Given the description of an element on the screen output the (x, y) to click on. 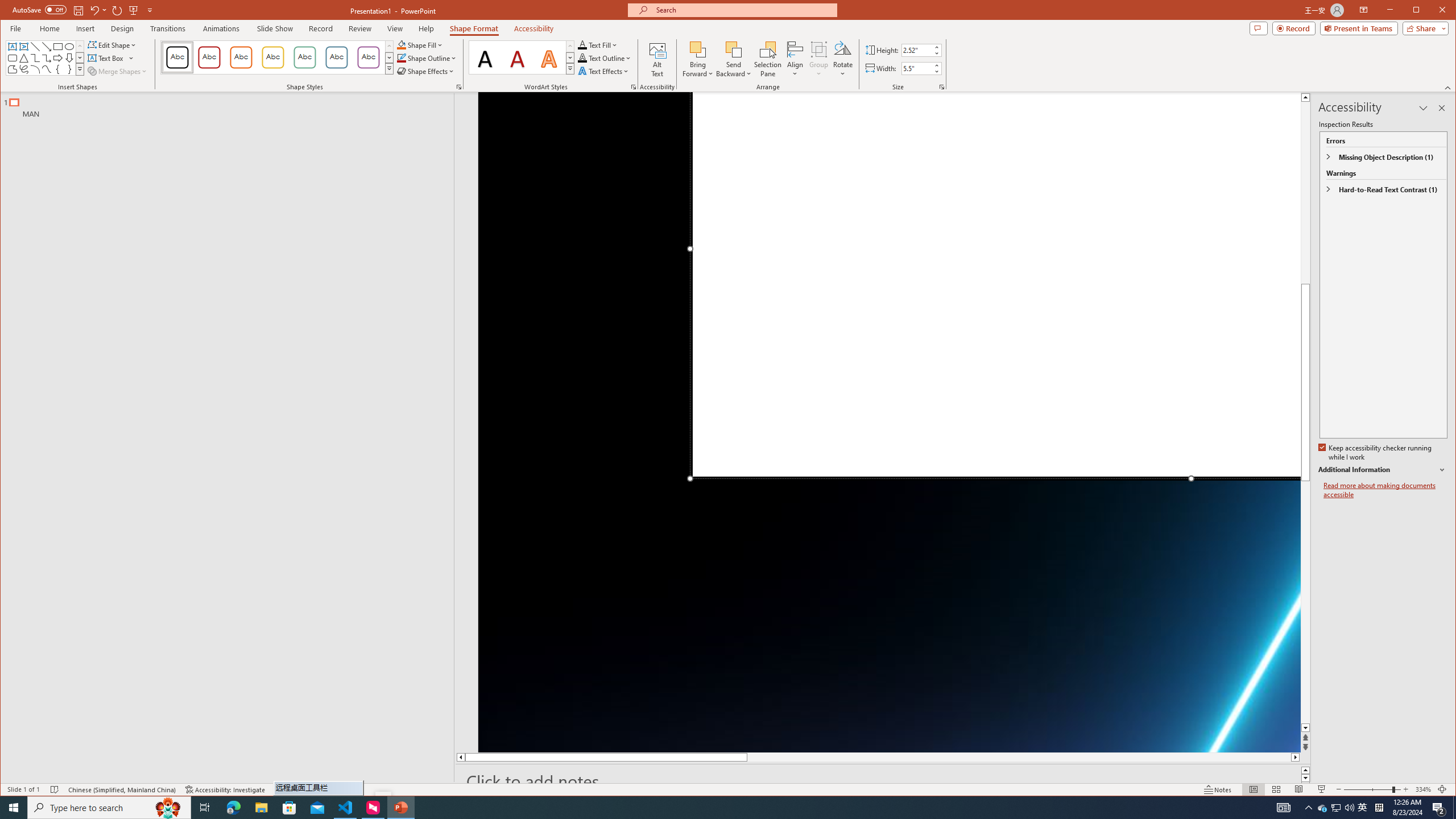
AutomationID: ShapeStylesGallery (277, 57)
Align (794, 59)
Shape Outline (426, 57)
Microsoft Edge (233, 807)
